Given the description of an element on the screen output the (x, y) to click on. 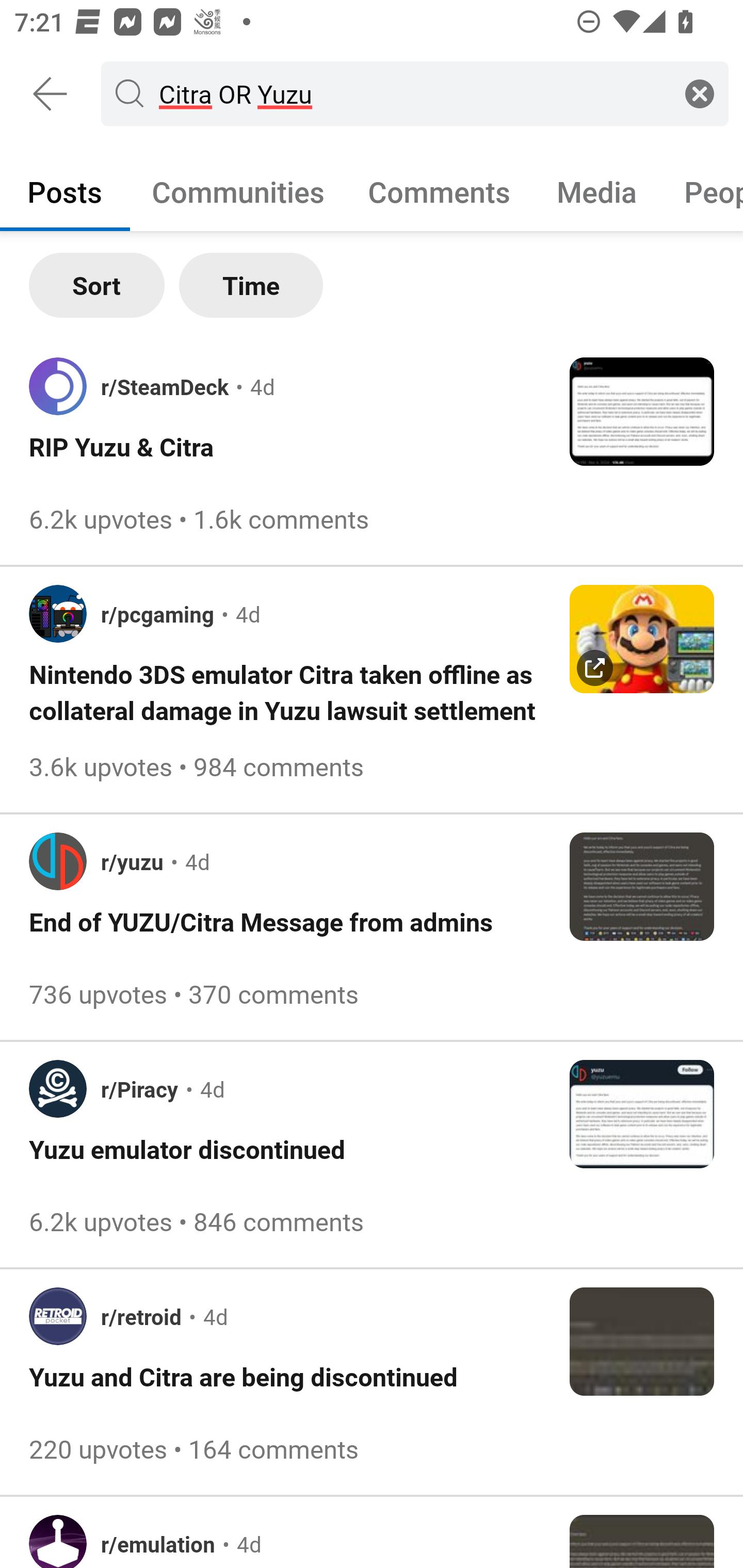
Back (50, 93)
Citra OR Yuzu (410, 93)
Clear search (699, 93)
Communities (238, 191)
Comments (438, 191)
Media (596, 191)
Sort Sort by Most relevant (96, 285)
Time Filter Time by All time (251, 285)
